Given the description of an element on the screen output the (x, y) to click on. 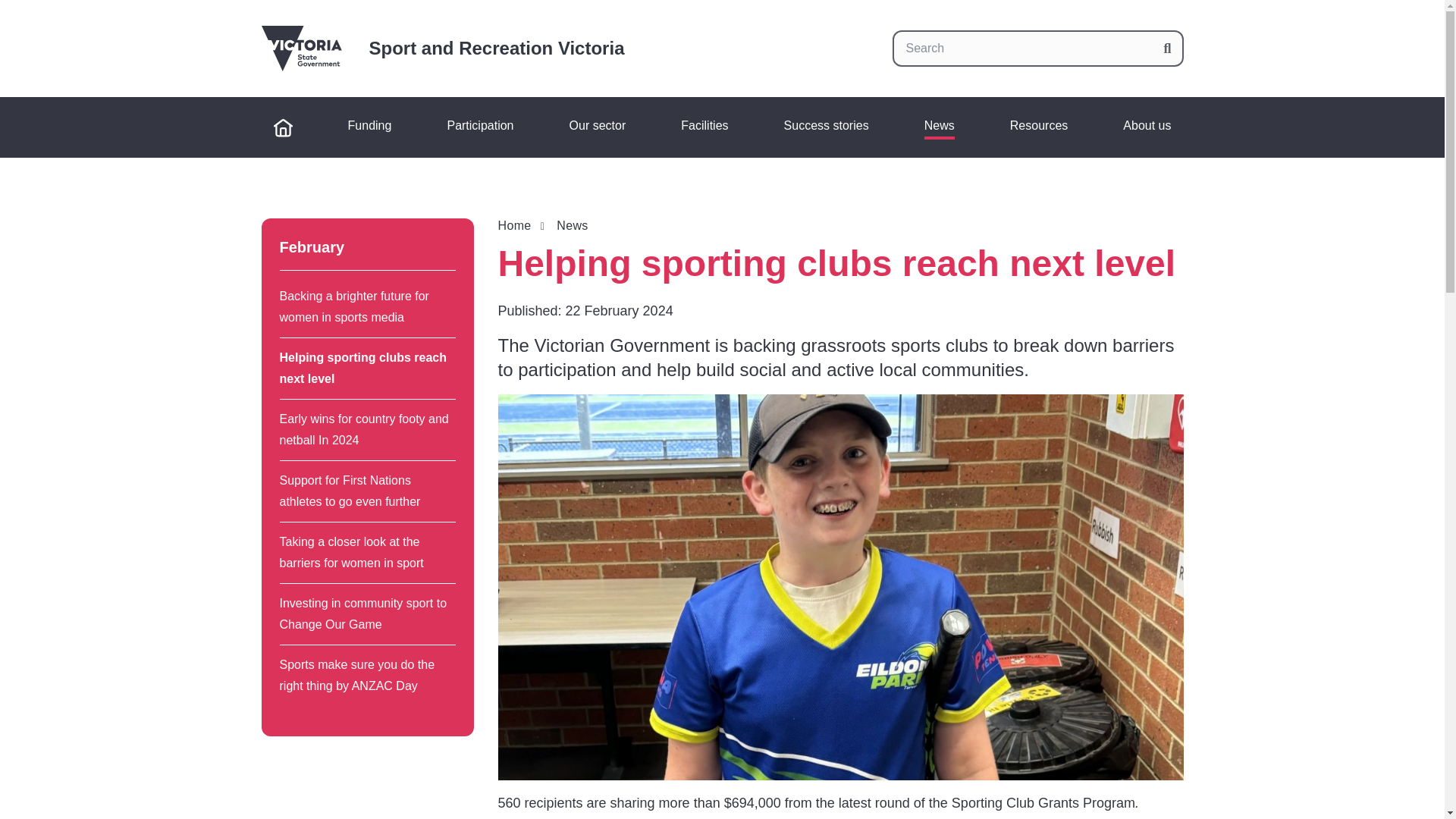
Success stories (825, 127)
Resources (1038, 127)
Facilities (703, 127)
Our sector (598, 127)
News (939, 127)
Funding (370, 127)
Participation (479, 127)
About us (1146, 127)
